Given the description of an element on the screen output the (x, y) to click on. 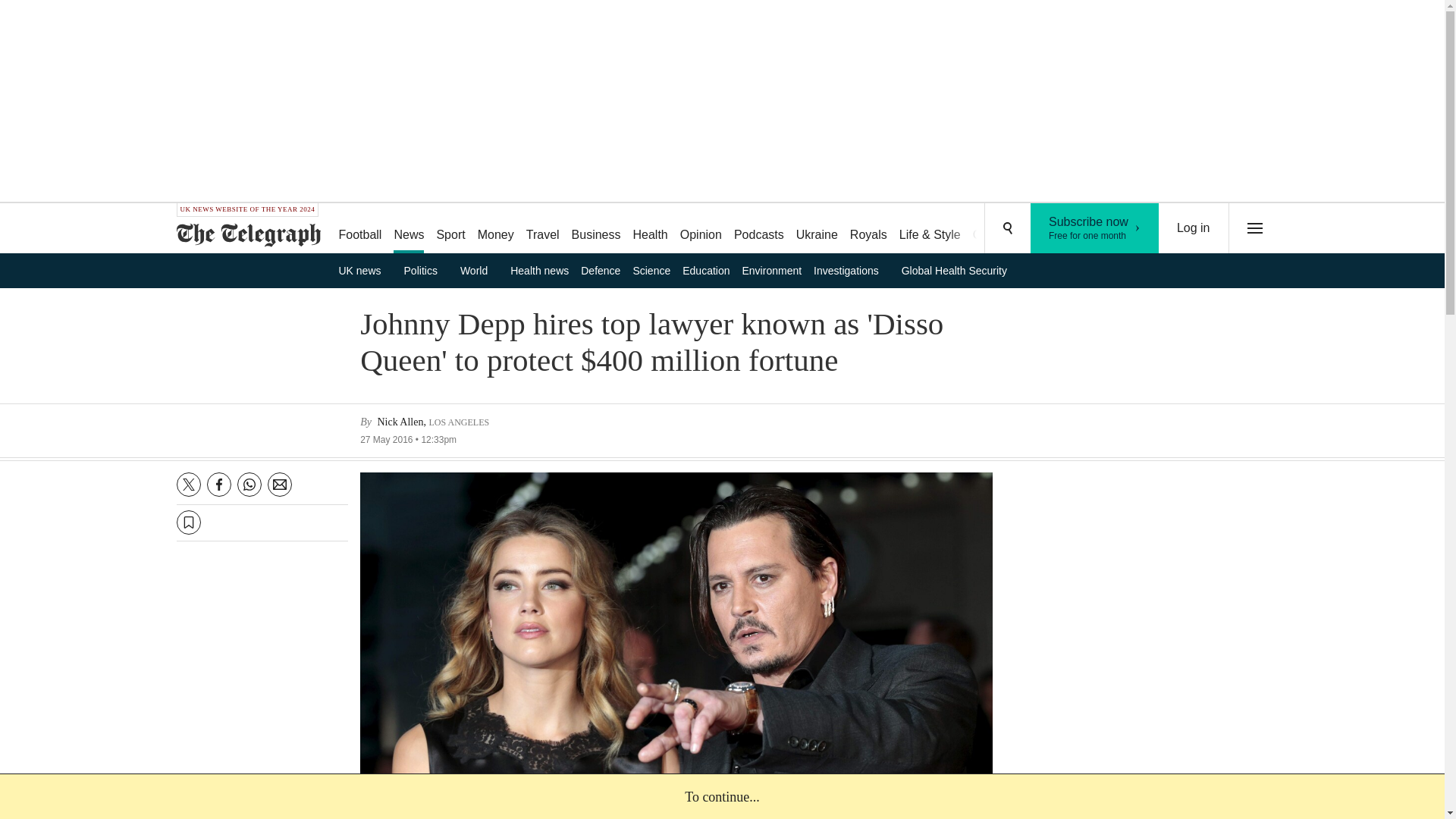
Health (649, 228)
Sport (449, 228)
UK news (364, 270)
Ukraine (817, 228)
Opinion (701, 228)
Podcasts (759, 228)
Football (359, 228)
Travel (1094, 228)
Money (542, 228)
Royals (495, 228)
Business (868, 228)
Politics (596, 228)
News (425, 270)
Puzzles (408, 228)
